Given the description of an element on the screen output the (x, y) to click on. 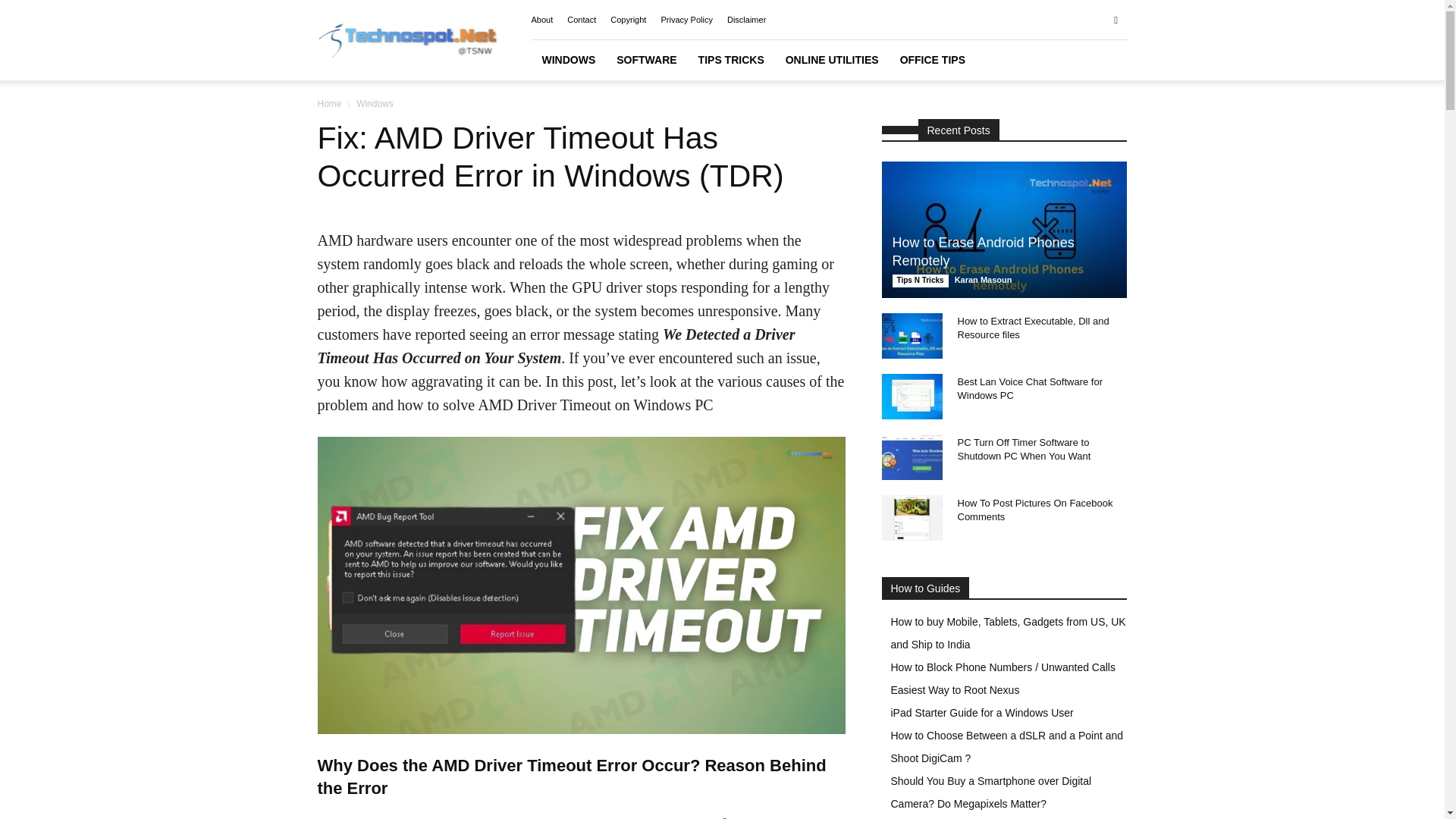
TIPS TRICKS (730, 60)
How to Erase Android Phones Remotely (982, 251)
Contact (581, 19)
Free Productive Software (646, 60)
How to Erase Android Phones Remotely (1003, 229)
Technospot.Net (407, 40)
OFFICE TIPS (932, 60)
Search (1085, 73)
WINDOWS (568, 60)
How to Erase Android Phones Remotely (982, 251)
